Given the description of an element on the screen output the (x, y) to click on. 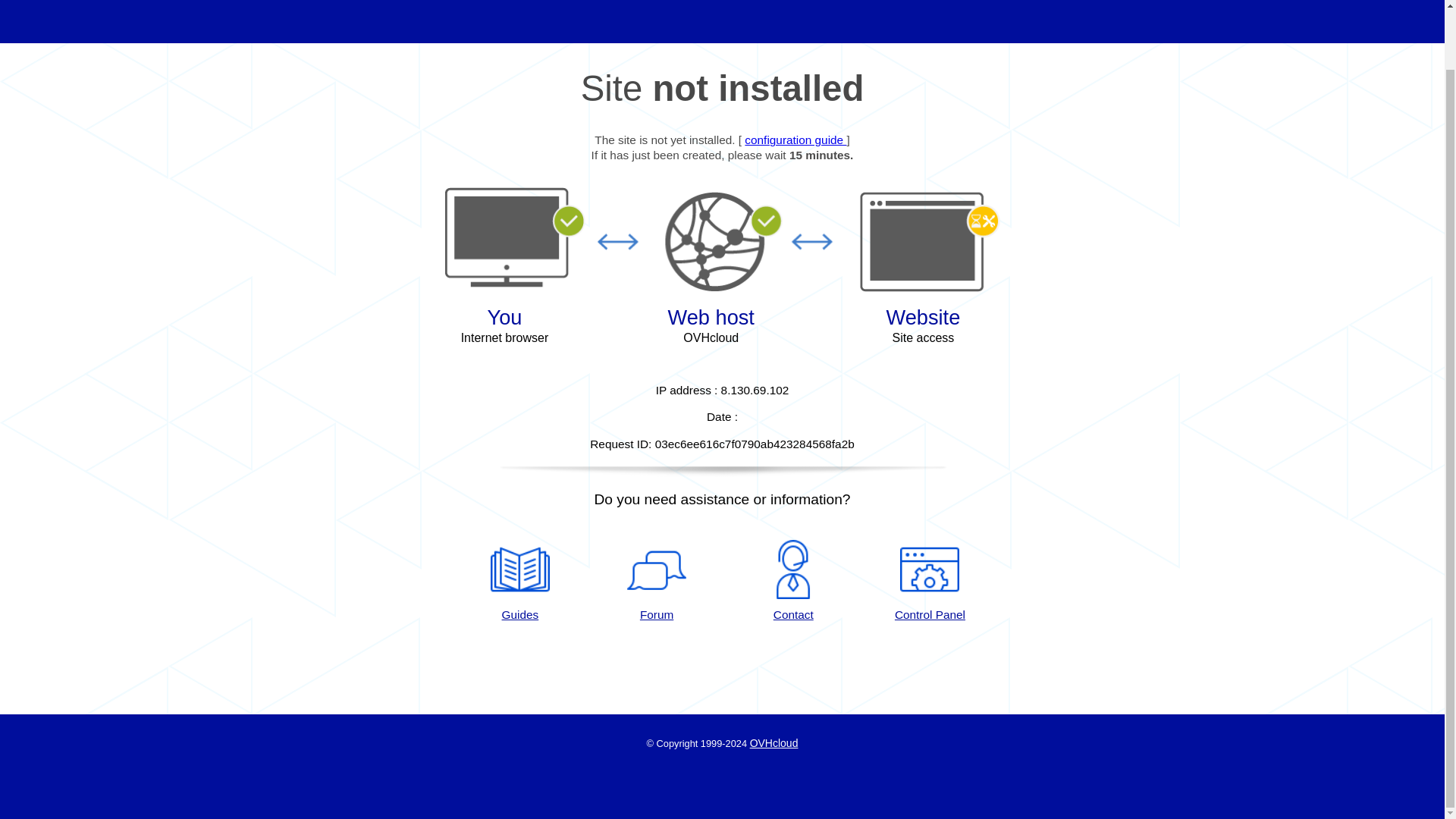
Forum (656, 581)
Guides (794, 139)
Guides (519, 581)
OVHcloud (773, 743)
Control Panel (930, 581)
Control Panel (930, 581)
Forum (656, 581)
Contact (793, 581)
configuration guide (794, 139)
Contact (793, 581)
